Given the description of an element on the screen output the (x, y) to click on. 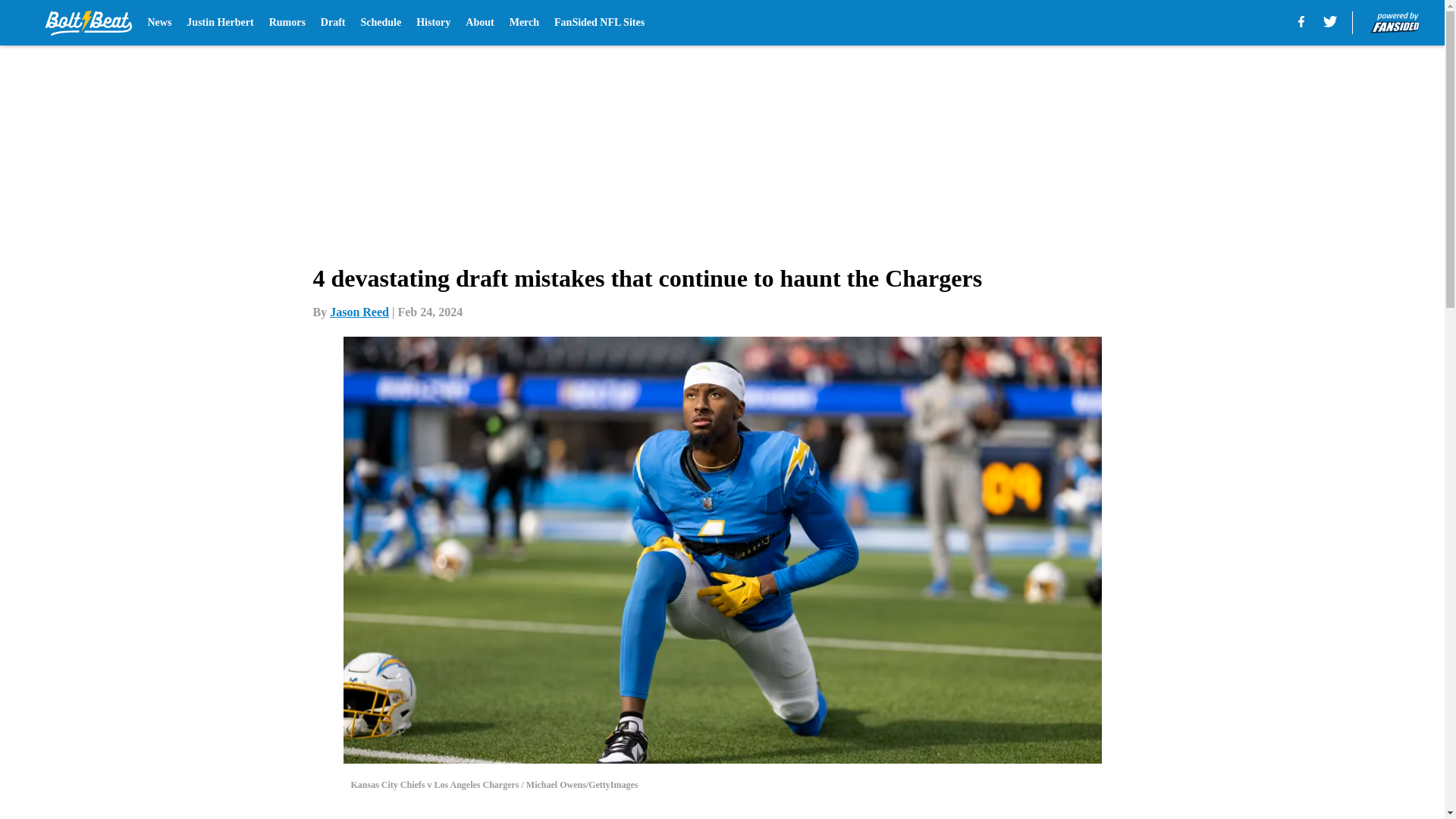
Justin Herbert (219, 22)
Jason Reed (359, 311)
Draft (333, 22)
News (159, 22)
Schedule (381, 22)
History (432, 22)
About (479, 22)
Rumors (287, 22)
Merch (523, 22)
